Given the description of an element on the screen output the (x, y) to click on. 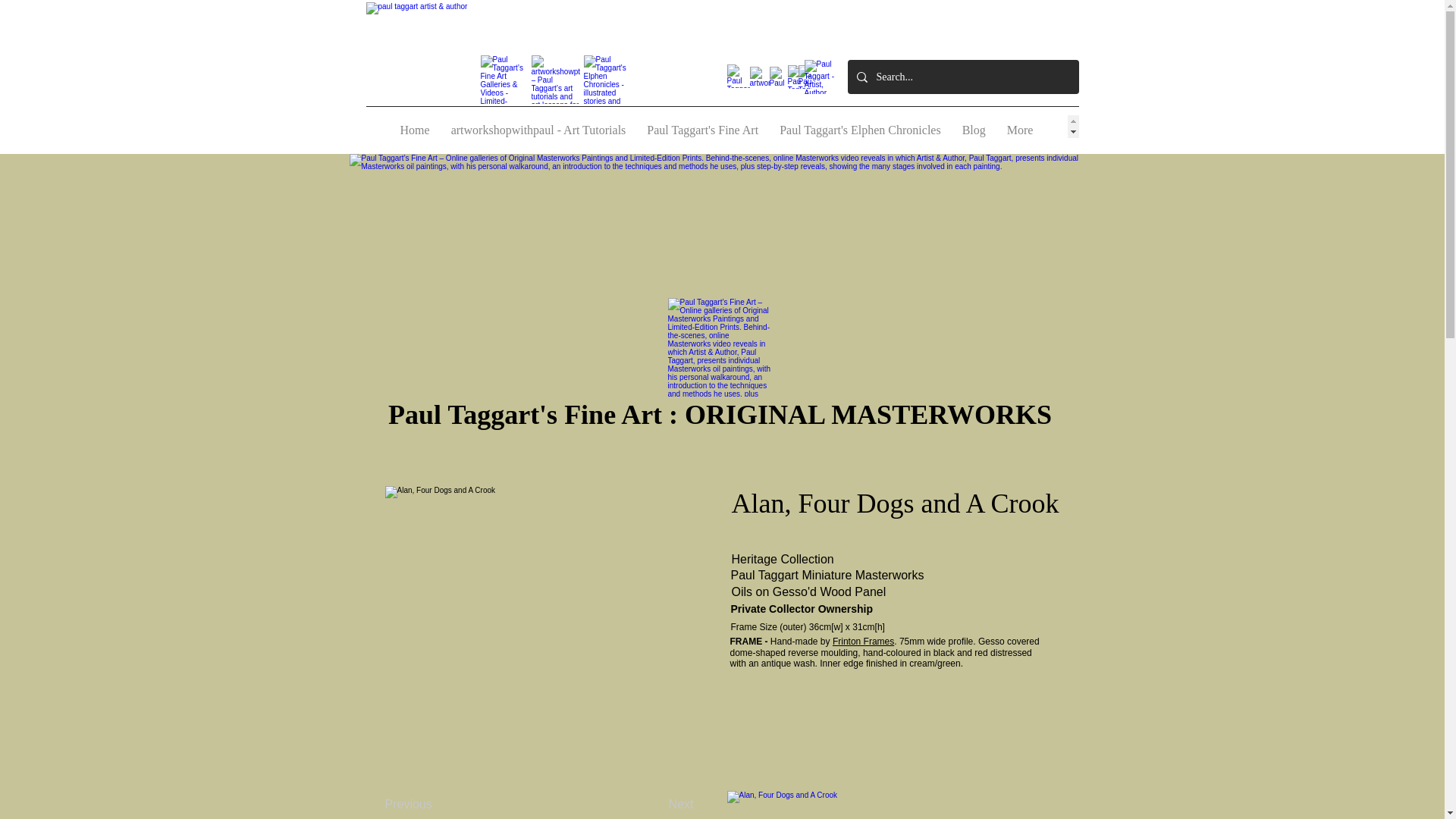
Paul Taggart on Twitter (819, 76)
home page artworkshopwthpaul (424, 54)
Previous (423, 804)
Paul Taggart on Vimeo (737, 75)
Paul Taggart's Elphen Chronicles (607, 79)
Paul Taggart's Fine Art (702, 126)
Blog (973, 126)
Next (672, 804)
Paul Taggart's Elphen Chronicles (860, 126)
artworkshopwithpaul - Art Tutorials (539, 126)
